Given the description of an element on the screen output the (x, y) to click on. 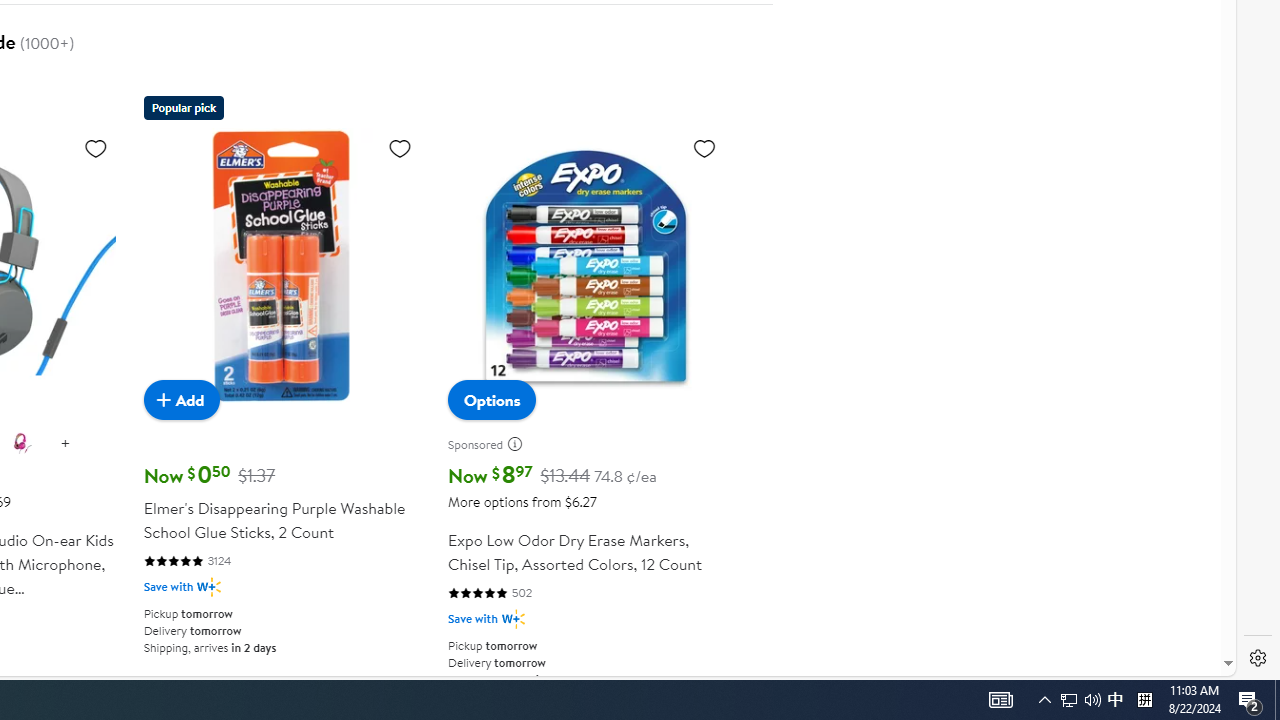
Ad disclaimer and feedback (521, 443)
show more color options (65, 443)
Pink (21, 443)
Pink (22, 444)
Walmart Plus (513, 619)
